Given the description of an element on the screen output the (x, y) to click on. 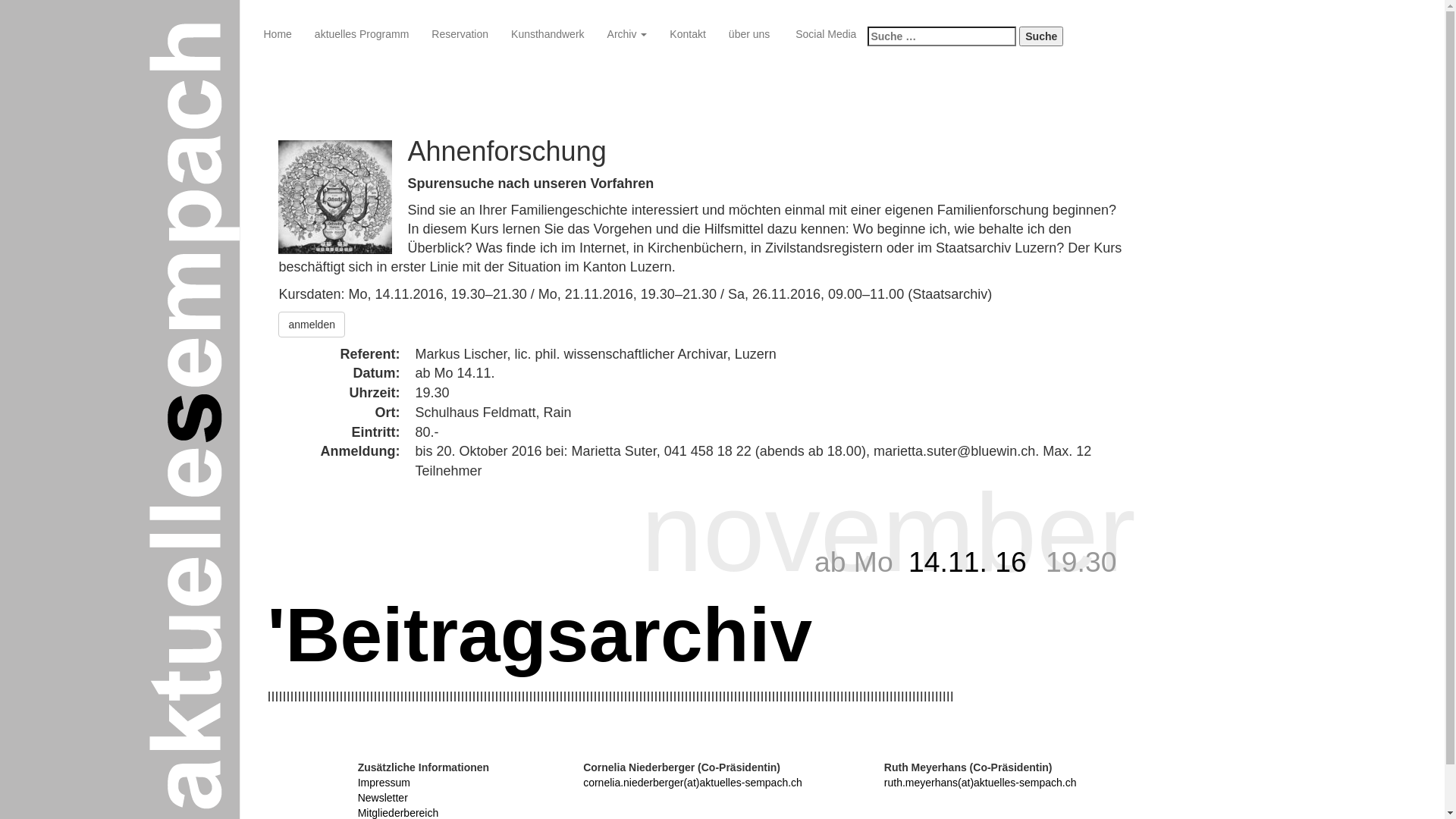
ruth.meyerhans(at)aktuelles-sempach.ch Element type: text (980, 782)
anmelden Element type: text (311, 322)
cornelia.niederberger(at)aktuelles-sempach.ch Element type: text (692, 782)
Impressum Element type: text (383, 782)
 Social Media Element type: text (824, 34)
Kontakt Element type: text (687, 34)
Suche Element type: text (1041, 36)
zur Startseite Element type: hover (11, 56)
anmelden Element type: text (311, 324)
Home Element type: text (276, 34)
aktuelles Programm Element type: text (361, 34)
Home Element type: hover (11, 34)
Archiv Element type: text (627, 34)
Kunsthandwerk Element type: text (547, 34)
Newsletter Element type: text (382, 797)
Reservation Element type: text (459, 34)
